Given the description of an element on the screen output the (x, y) to click on. 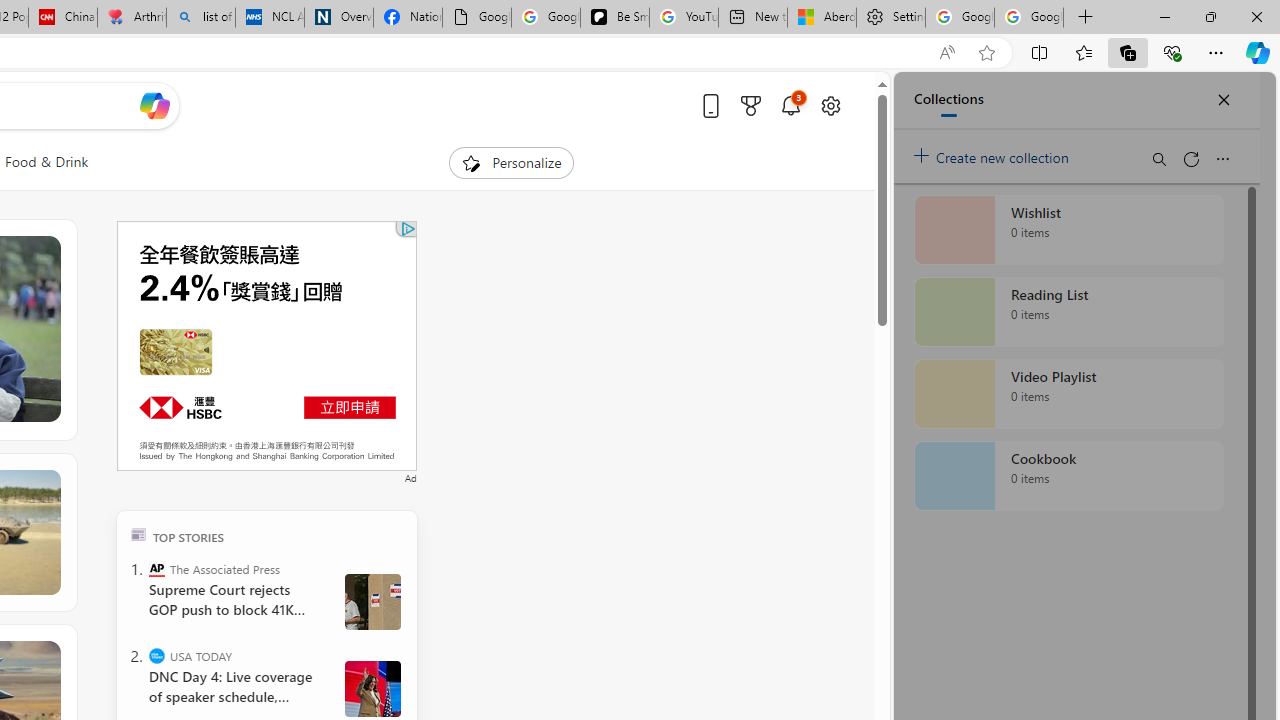
Google Analytics Opt-out Browser Add-on Download Page (476, 17)
NCL Adult Asthma Inhaler Choice Guideline (269, 17)
